Given the description of an element on the screen output the (x, y) to click on. 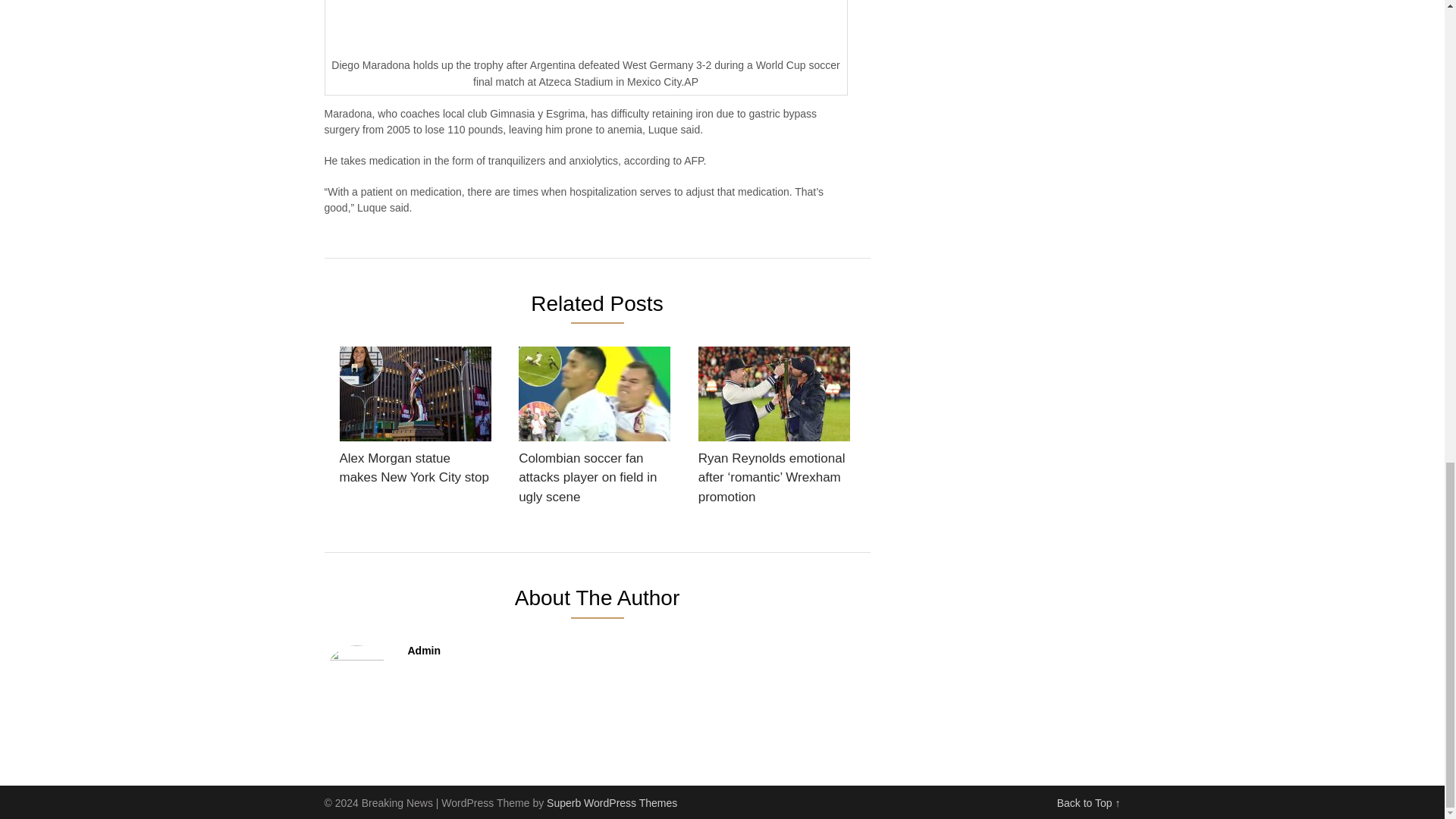
Superb WordPress Themes (612, 802)
Alex Morgan statue makes New York City stop (415, 420)
Alex Morgan statue makes New York City stop (415, 420)
Colombian soccer fan attacks player on field in ugly scene (593, 430)
Colombian soccer fan attacks player on field in ugly scene (593, 430)
